Given the description of an element on the screen output the (x, y) to click on. 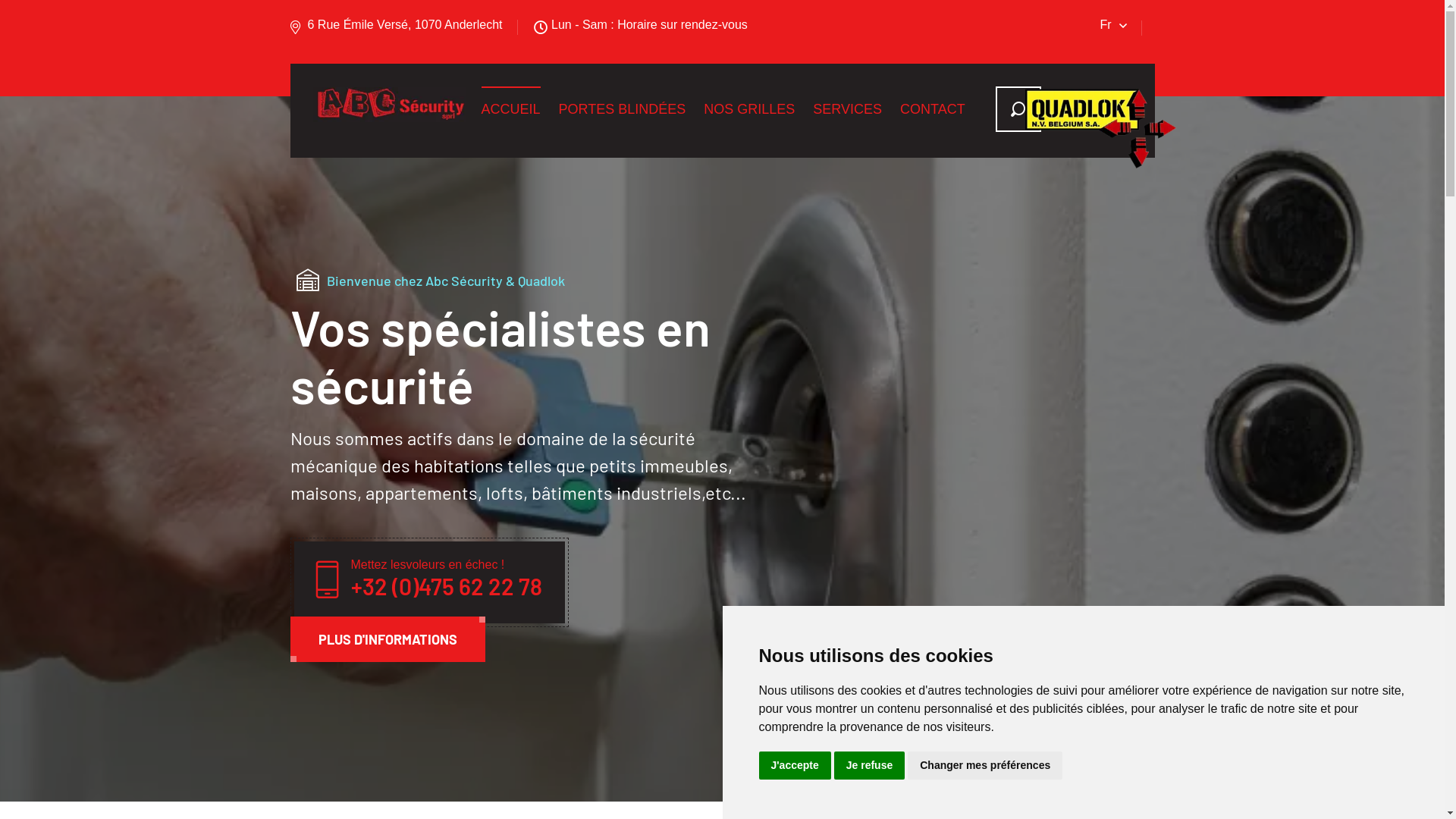
+32 (0)475 62 22 78 Element type: text (445, 585)
ACCUEIL Element type: text (509, 108)
Fr Element type: text (1112, 24)
SERVICES Element type: text (846, 108)
PLUS D'INFORMATIONS Element type: text (386, 639)
NOS GRILLES Element type: text (748, 108)
Je refuse Element type: text (869, 765)
CONTACT Element type: text (932, 108)
J'accepte Element type: text (794, 765)
